Given the description of an element on the screen output the (x, y) to click on. 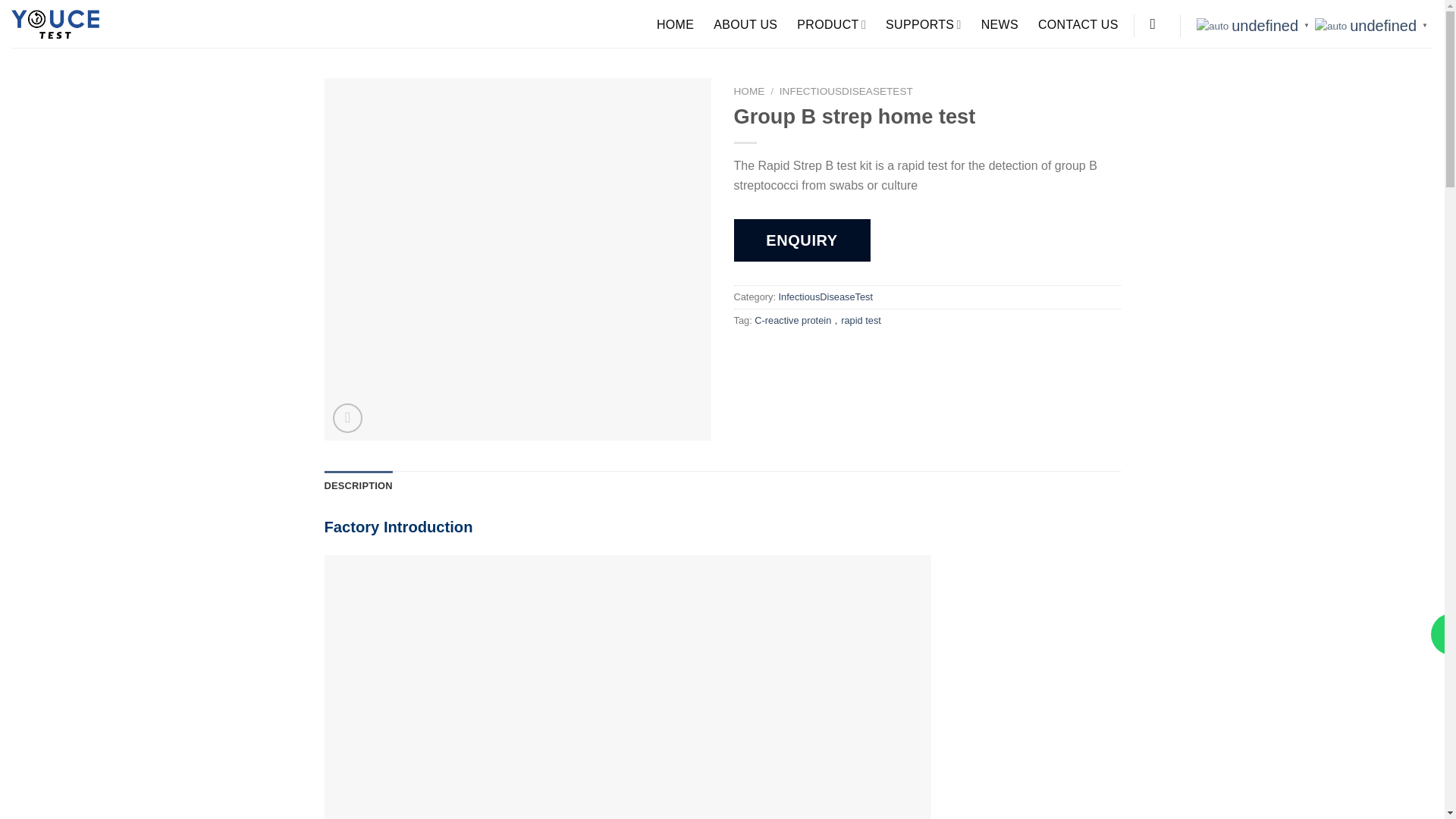
SUPPORTS (922, 24)
Zoom (347, 418)
HOME (675, 24)
PRODUCT (831, 24)
ABOUT US (745, 24)
NEWS (999, 24)
CONTACT US (1078, 24)
ENQUIRY (801, 240)
